Given the description of an element on the screen output the (x, y) to click on. 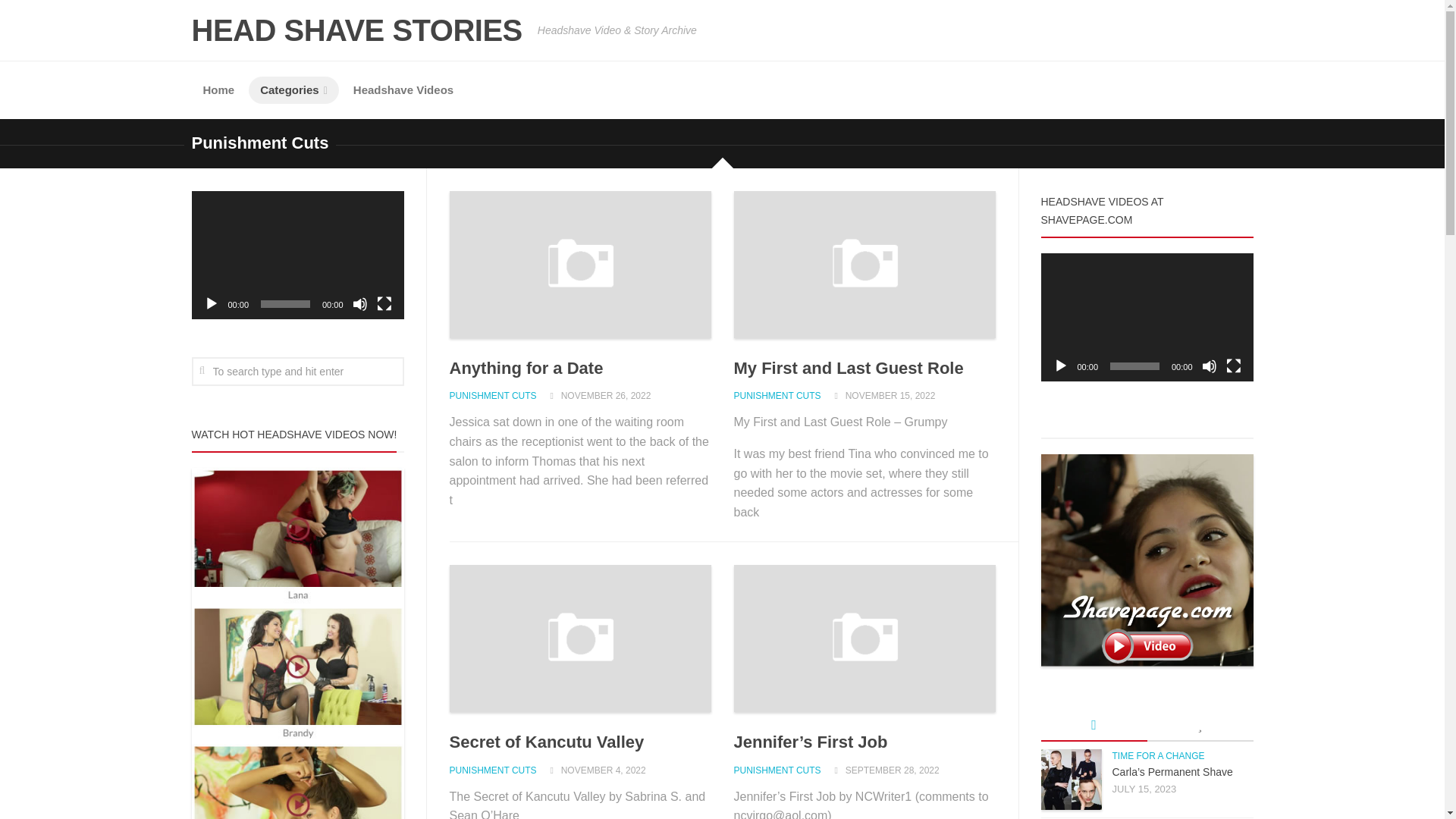
Headshave Videos (403, 90)
Mute (359, 304)
Fullscreen (383, 304)
Play (1059, 365)
To search type and hit enter (296, 371)
Mute (1208, 365)
My First and Last Guest Role (848, 367)
Fullscreen (1232, 365)
Categories (293, 90)
Anything for a Date (525, 367)
